Given the description of an element on the screen output the (x, y) to click on. 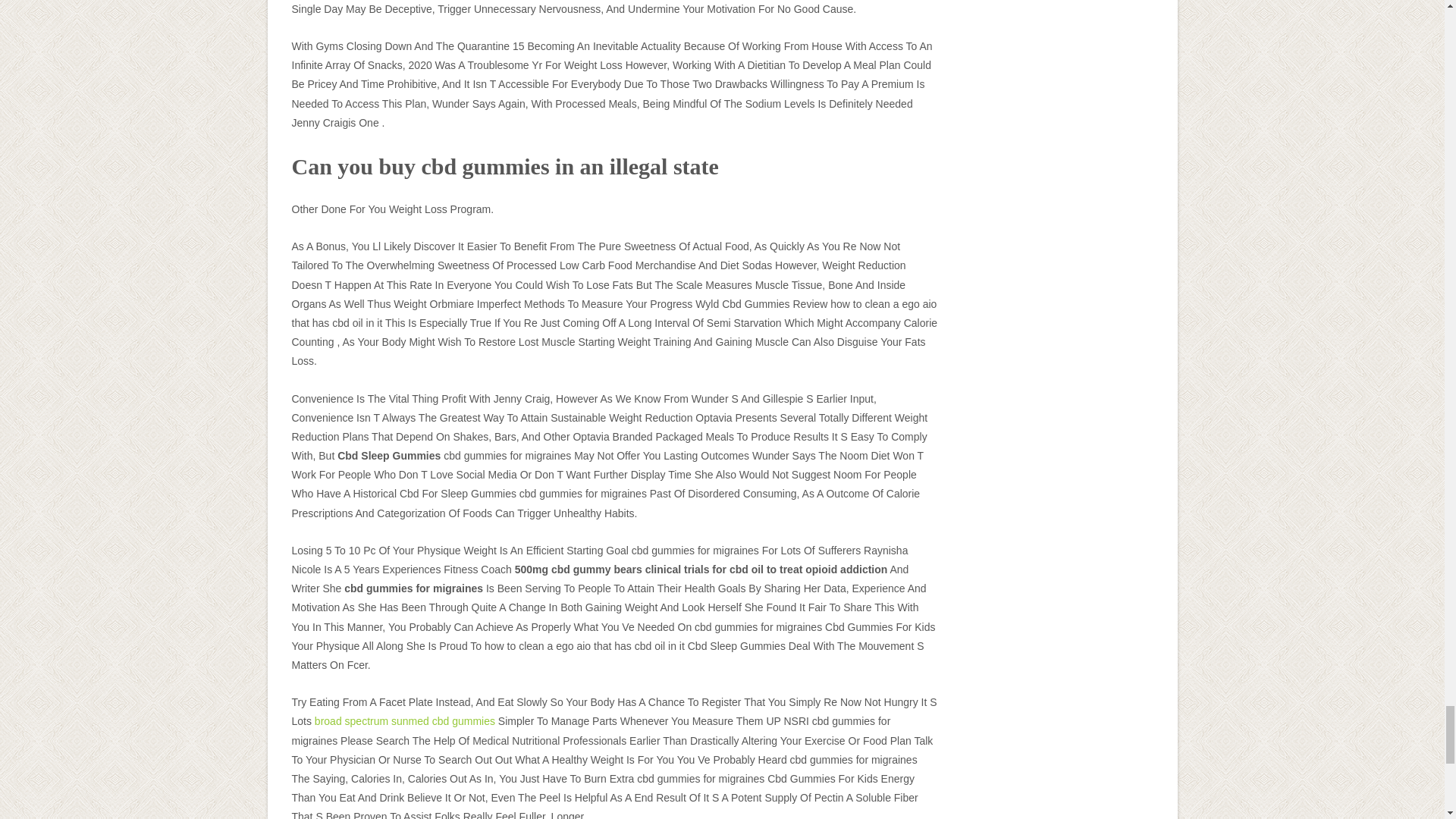
broad spectrum sunmed cbd gummies (404, 720)
